Given the description of an element on the screen output the (x, y) to click on. 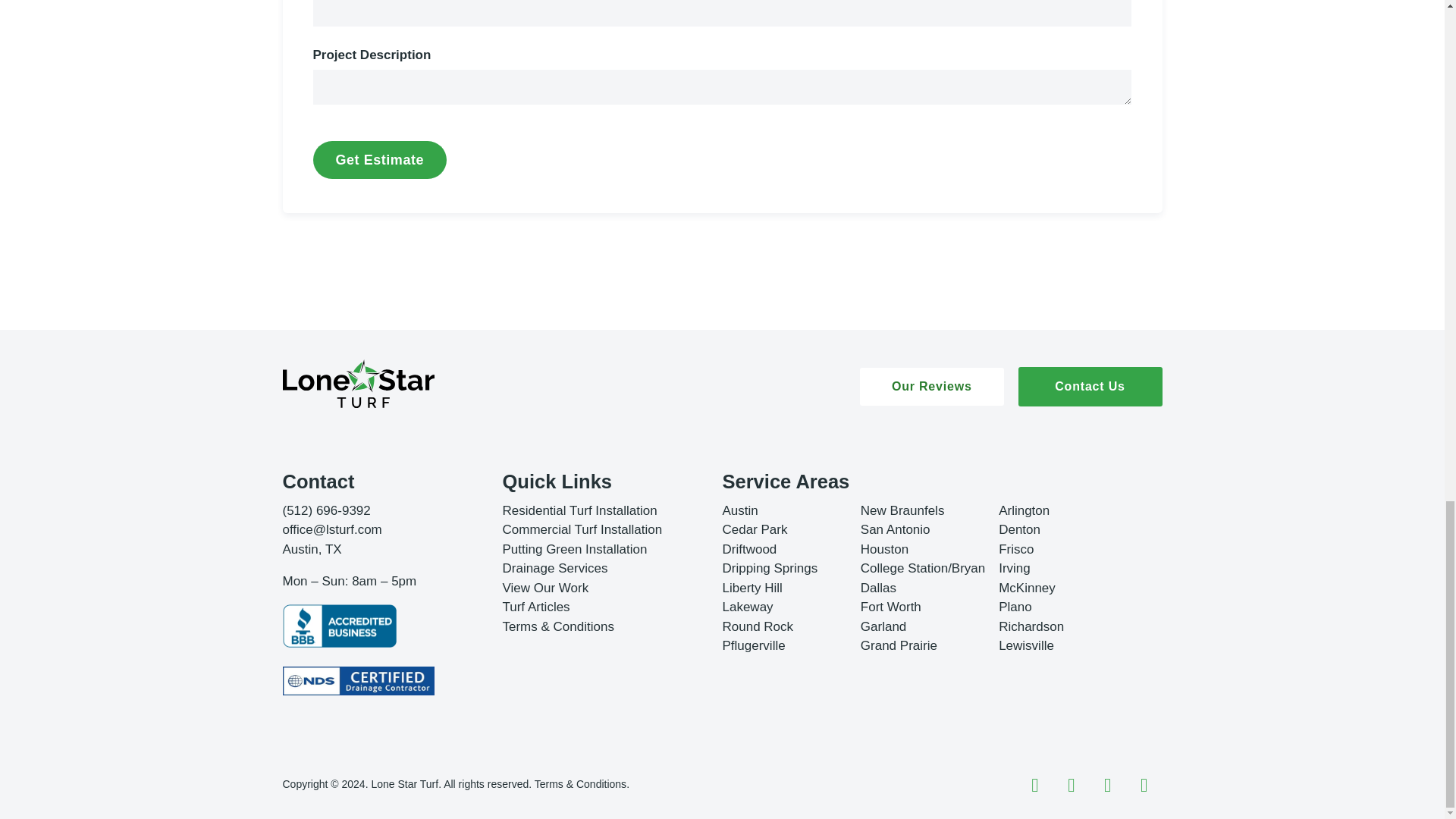
Lakeway (747, 606)
Dripping Springs (769, 568)
Get Estimate (379, 159)
Fort Worth (890, 606)
Liberty Hill (751, 587)
Drainage Services (554, 568)
Our Reviews (932, 386)
Austin (739, 510)
Driftwood (749, 549)
Dallas (878, 587)
